Given the description of an element on the screen output the (x, y) to click on. 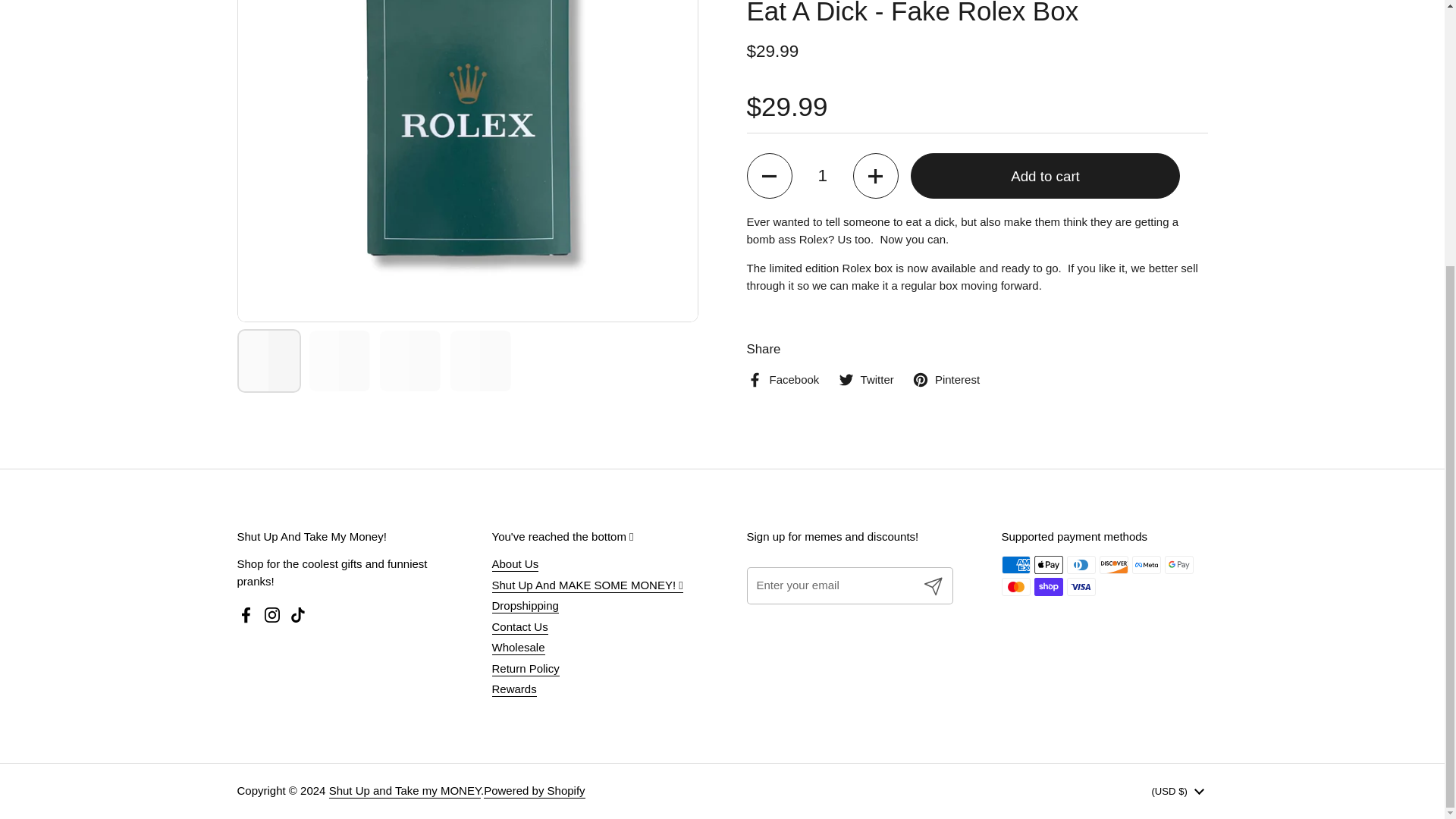
Share on twitter (865, 255)
1 (822, 51)
Share on facebook (781, 255)
Share on pinterest (945, 255)
